Given the description of an element on the screen output the (x, y) to click on. 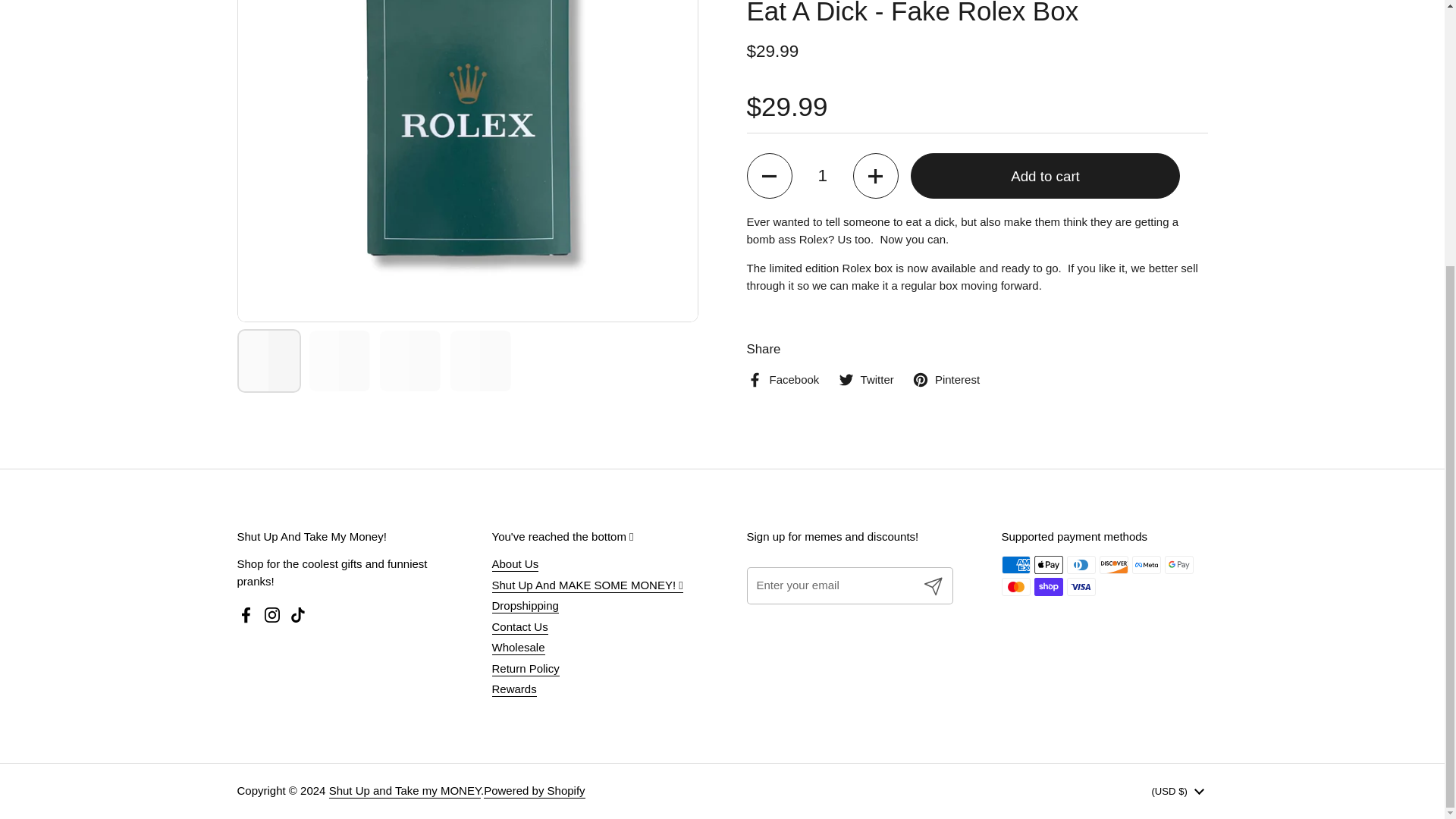
Share on twitter (865, 255)
1 (822, 51)
Share on facebook (781, 255)
Share on pinterest (945, 255)
